Given the description of an element on the screen output the (x, y) to click on. 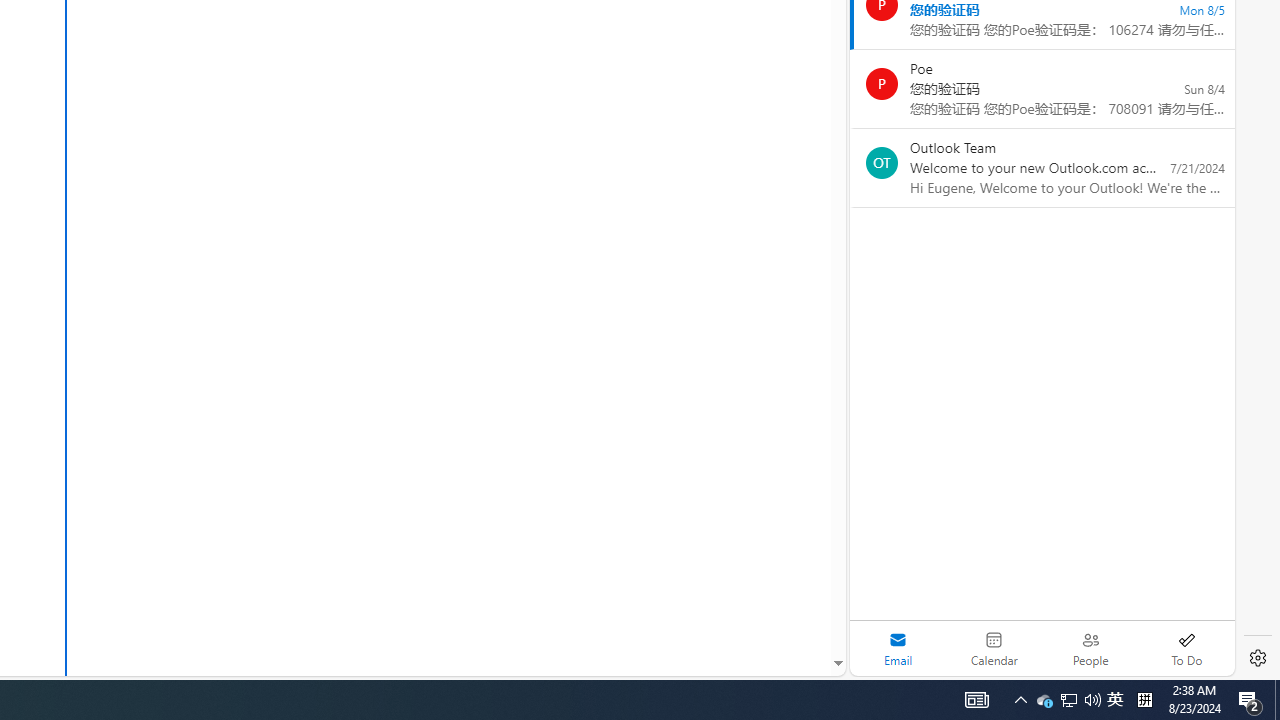
Calendar. Date today is 22 (994, 648)
To Do (1186, 648)
People (1090, 648)
Selected mail module (898, 648)
